Given the description of an element on the screen output the (x, y) to click on. 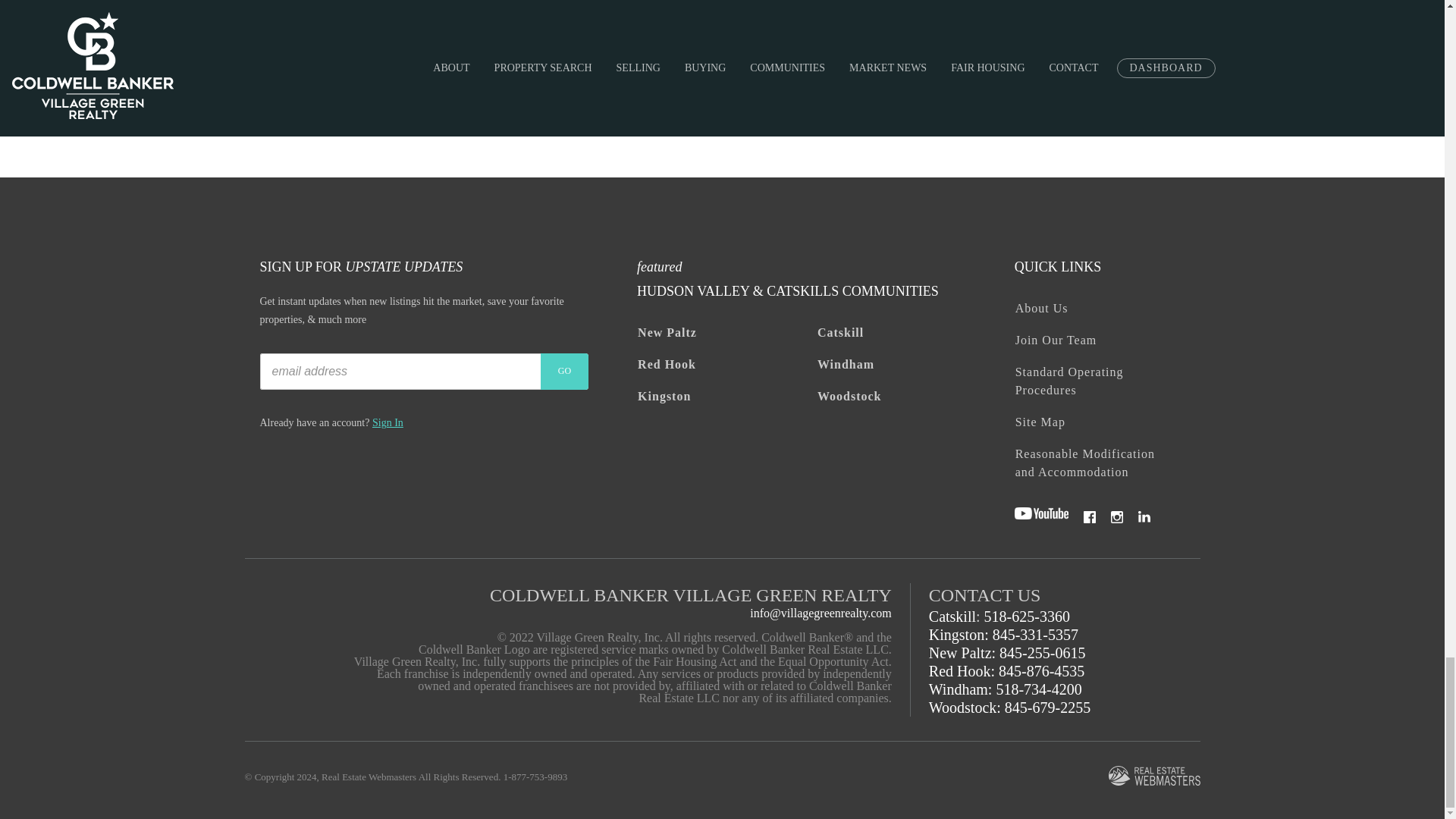
LinkedIn Icon (1144, 517)
Real Estate Webmasters (1153, 776)
Real Estate Webmasters Logo (1153, 775)
Facebook Icon (1089, 517)
Instagram Icon (1116, 517)
